Given the description of an element on the screen output the (x, y) to click on. 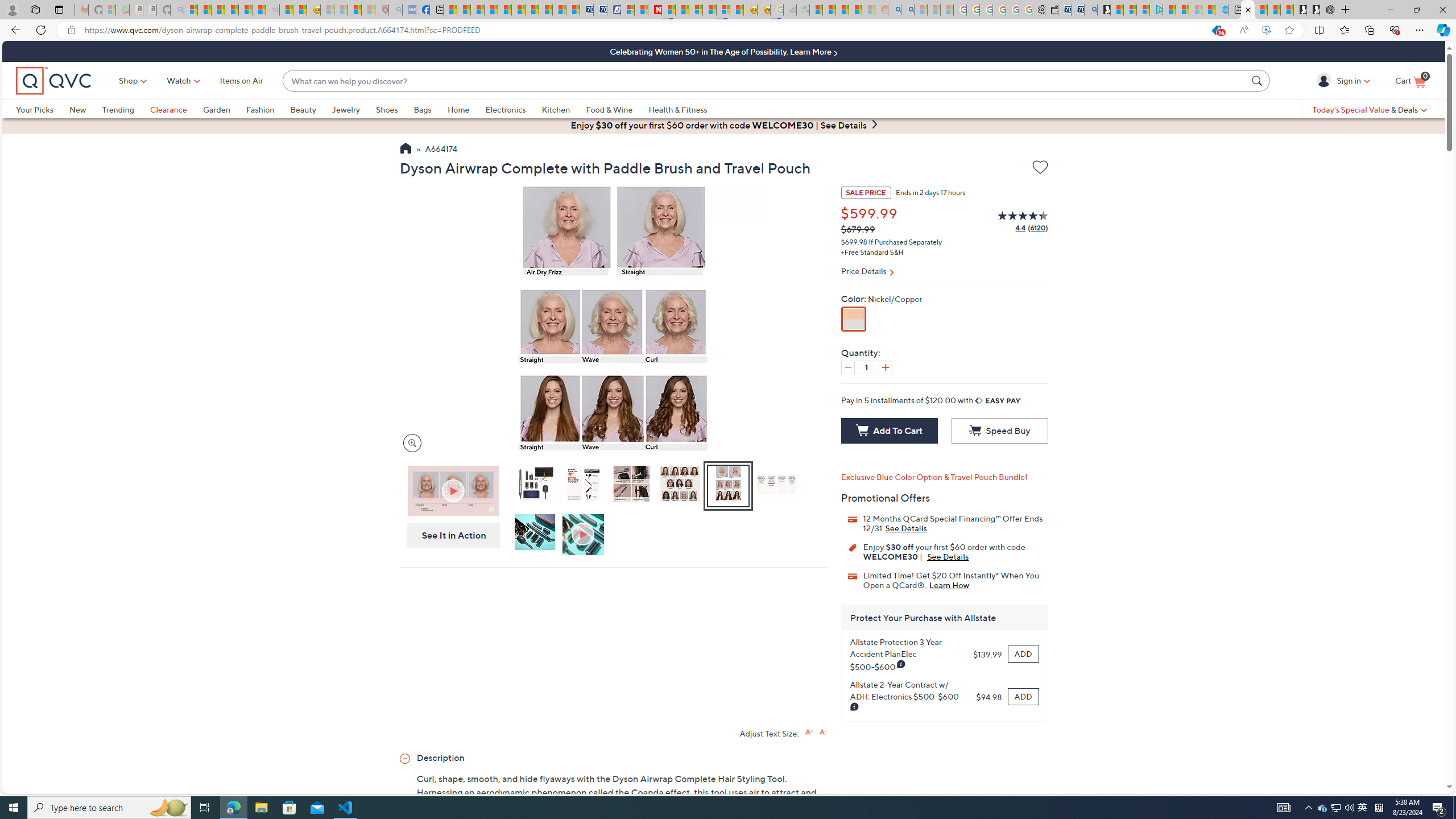
Health & Fitness (677, 109)
Celebrating Women 50+ in The Age of Possibility. Learn More (723, 51)
Learn How (948, 584)
Beauty (310, 109)
Cart is Empty  (1409, 81)
